Given the description of an element on the screen output the (x, y) to click on. 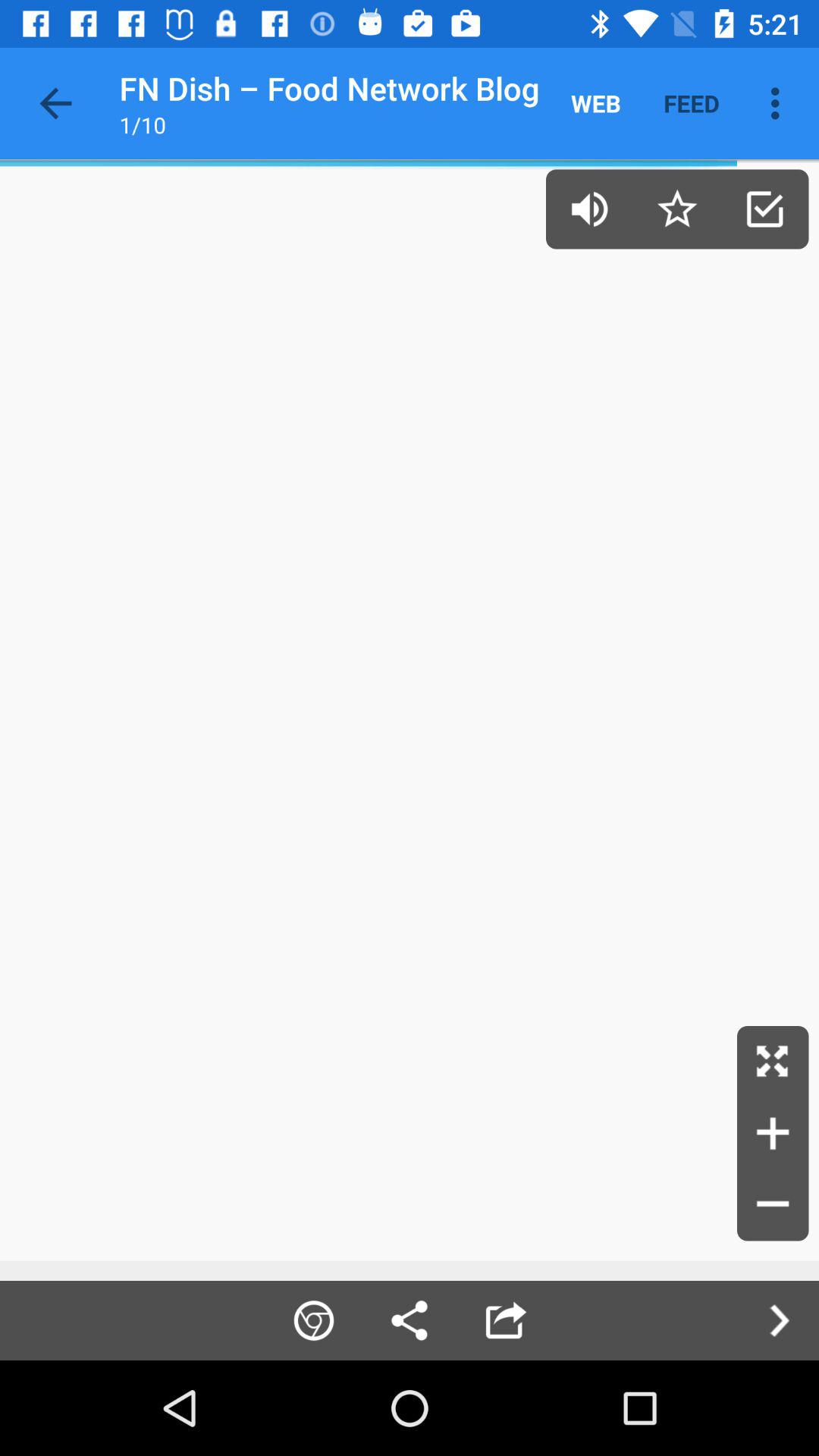
save to favorites (677, 209)
